Given the description of an element on the screen output the (x, y) to click on. 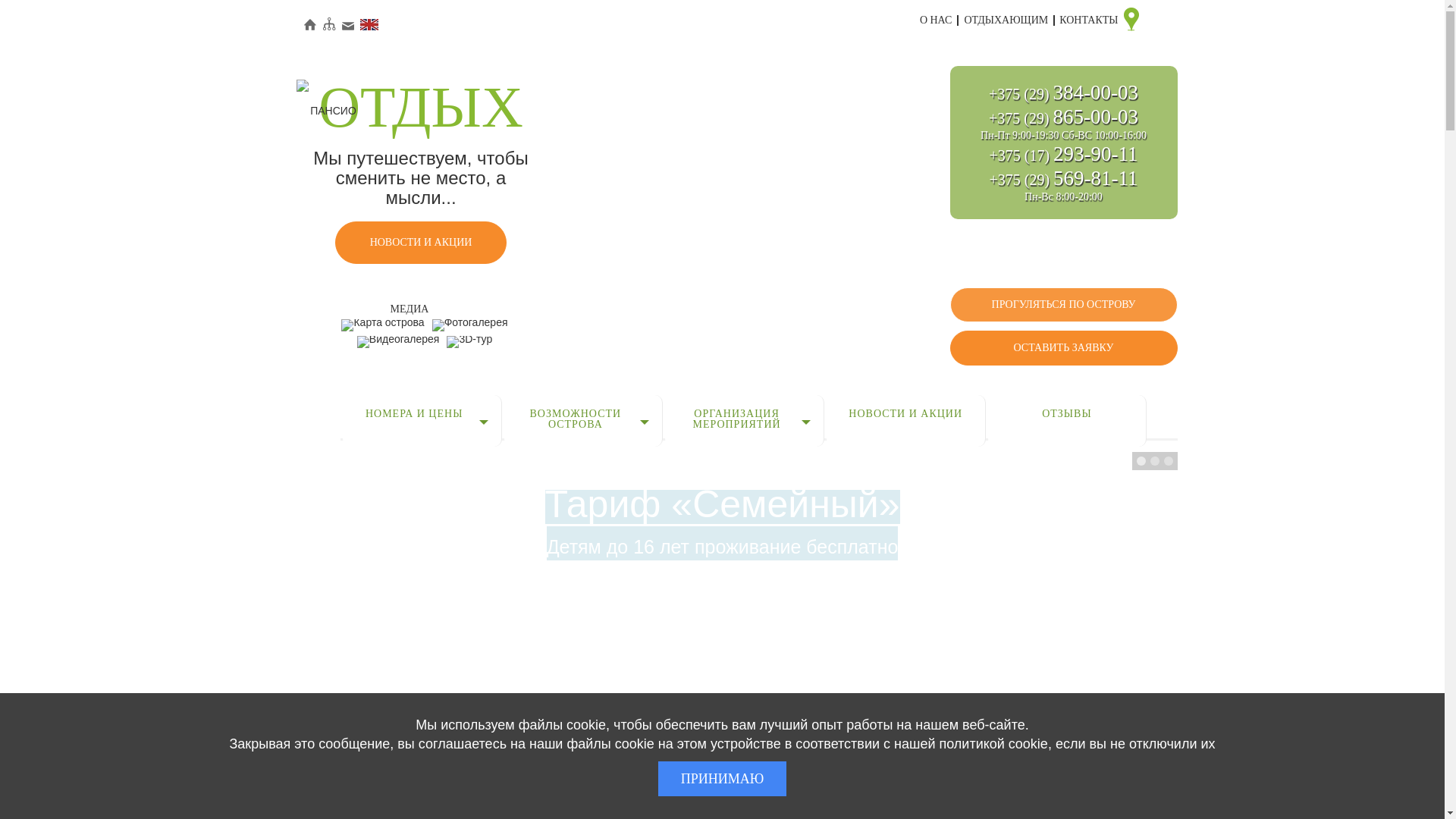
http://joomly.ru/slider Element type: hover (1165, 698)
+375 (29) 569-81-11 Element type: text (1062, 179)
+375 (17) 293-90-11 Element type: text (1062, 155)
+375 (29) 865-00-03 Element type: text (1063, 118)
+375 (29) 384-00-03 Element type: text (1063, 94)
